Given the description of an element on the screen output the (x, y) to click on. 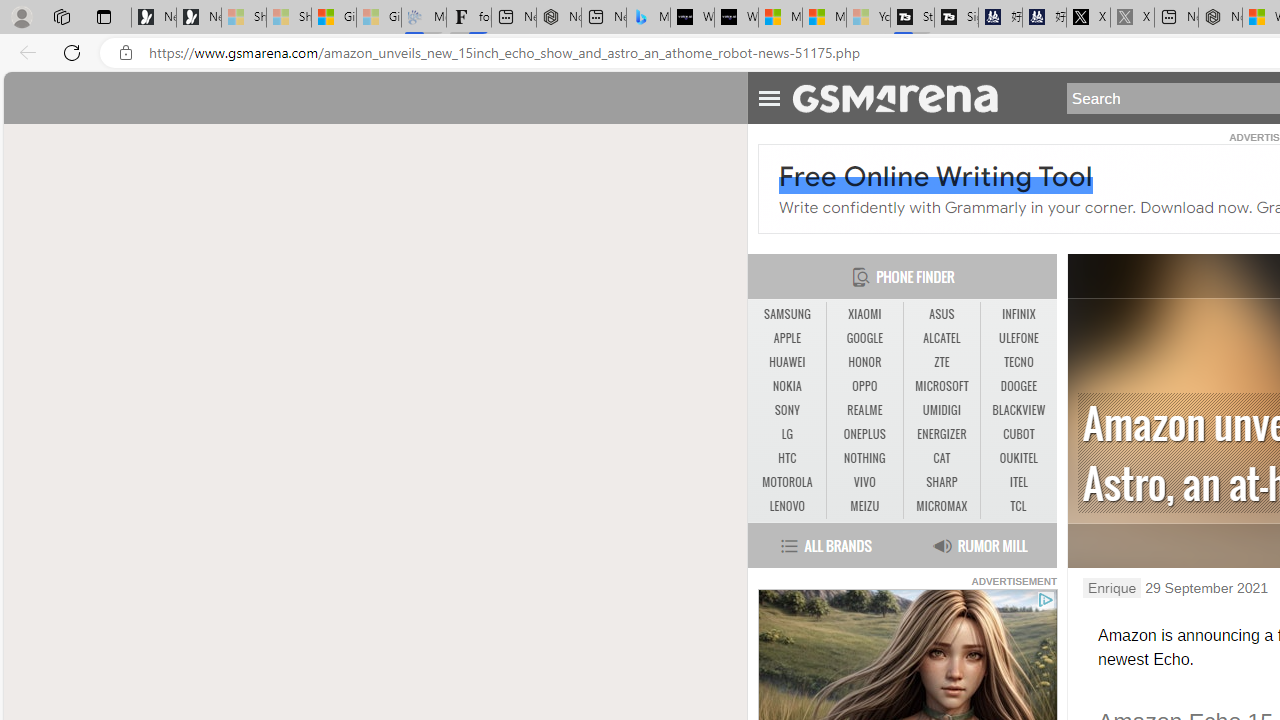
UMIDIGI (941, 411)
HTC (786, 458)
APPLE (786, 339)
ENERGIZER (941, 434)
CUBOT (1018, 434)
CAT (941, 457)
VIVO (863, 482)
MOTOROLA (786, 482)
ALCATEL (941, 338)
SAMSUNG (786, 313)
TCL (1018, 506)
NOKIA (786, 385)
